Given the description of an element on the screen output the (x, y) to click on. 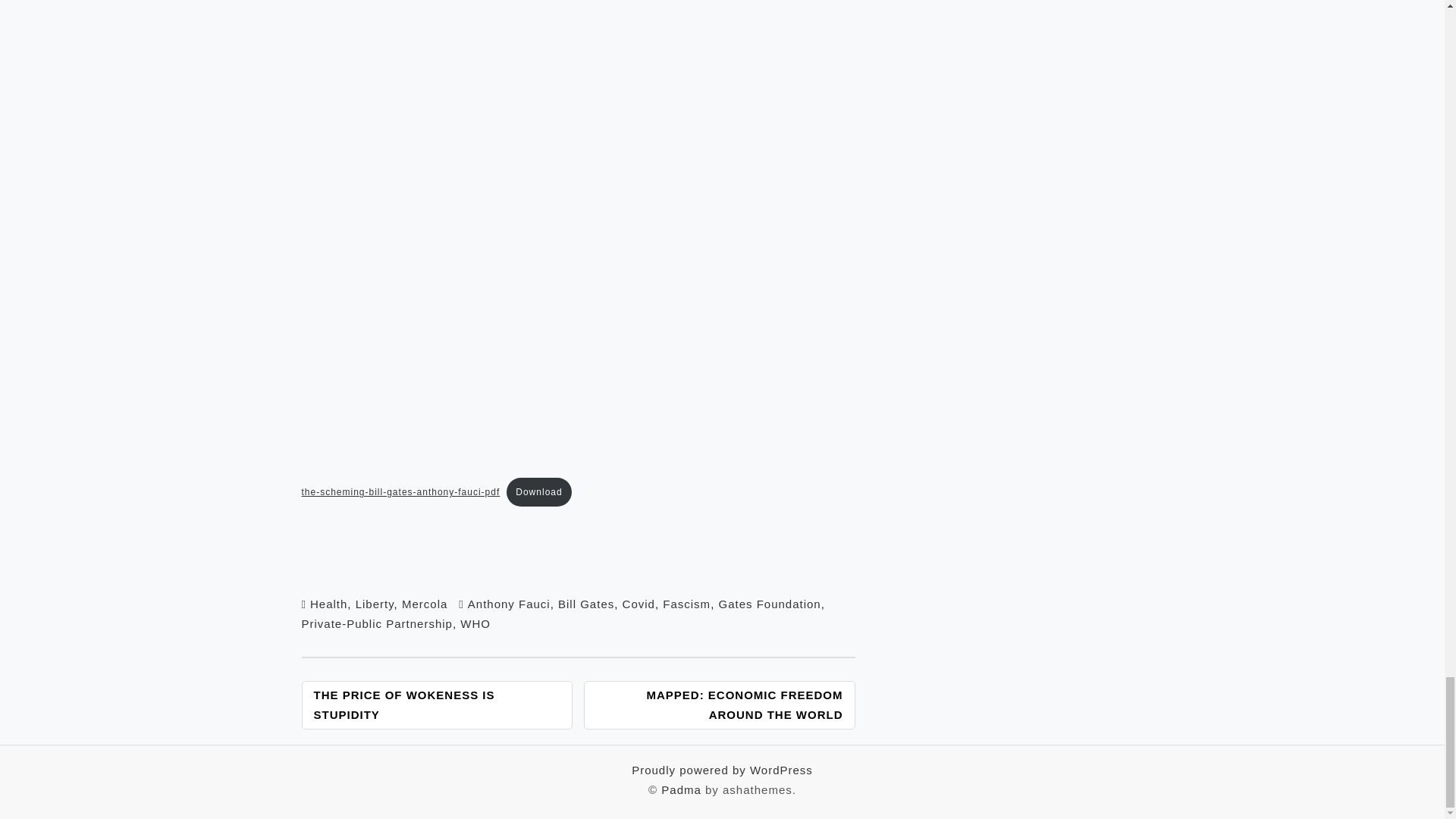
WHO (475, 623)
Private-Public Partnership (376, 623)
Covid (639, 603)
the-scheming-bill-gates-anthony-fauci-pdf (400, 491)
Liberty (374, 603)
Health (328, 603)
Download (538, 491)
Bill Gates (585, 603)
Mercola (423, 603)
THE PRICE OF WOKENESS IS STUPIDITY (437, 704)
